Given the description of an element on the screen output the (x, y) to click on. 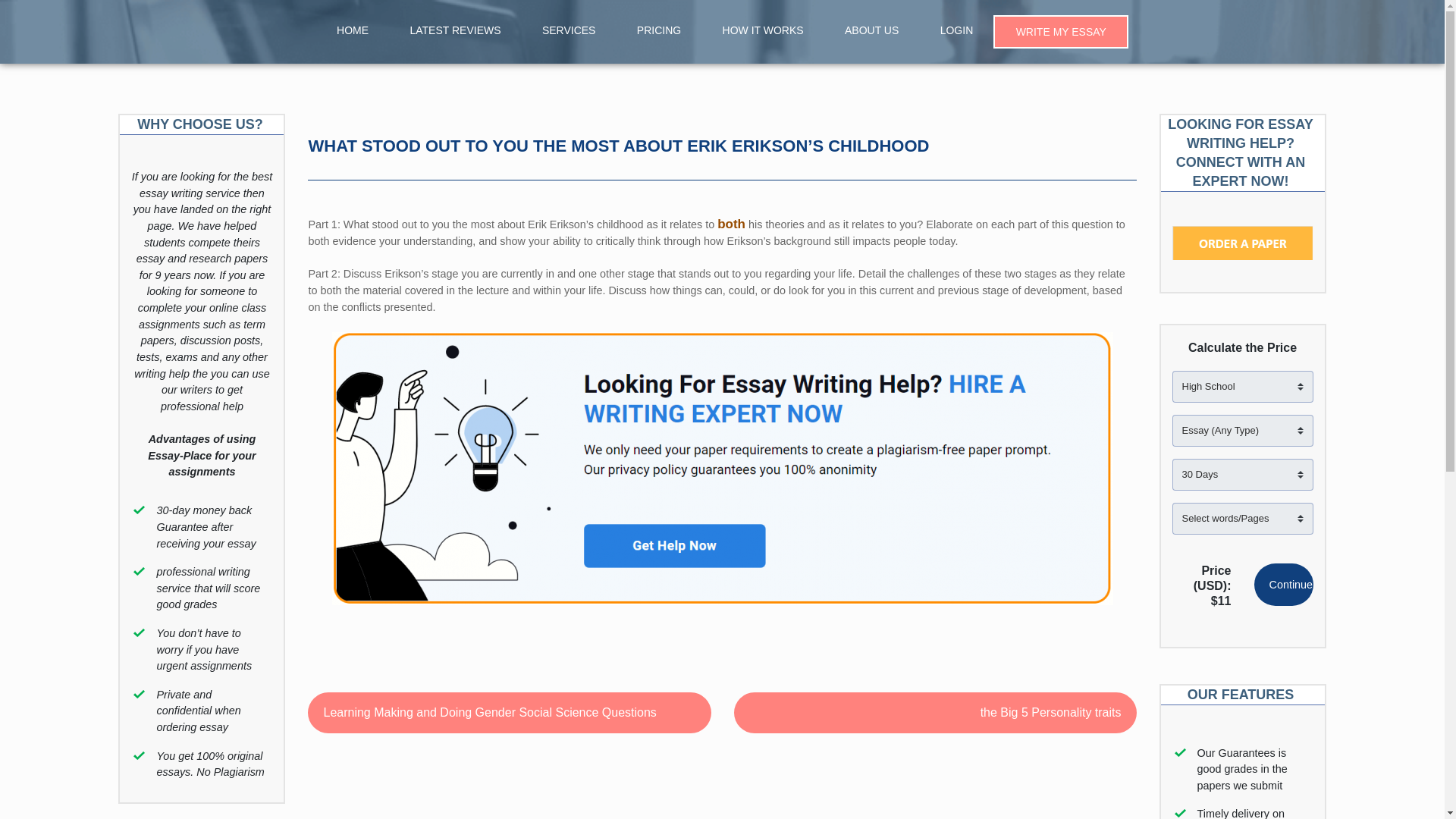
Home (352, 30)
How It works (762, 30)
SERVICES (568, 30)
Latest Reviews (454, 30)
Pricing (658, 30)
PRICING (658, 30)
WRITE MY ESSAY (1061, 32)
Learning Making and Doing Gender Social Science Questions (508, 712)
HOME (352, 30)
Login (956, 30)
Continue (1283, 584)
ABOUT US (871, 30)
About US (871, 30)
the Big 5 Personality traits (935, 712)
LATEST REVIEWS (454, 30)
